Given the description of an element on the screen output the (x, y) to click on. 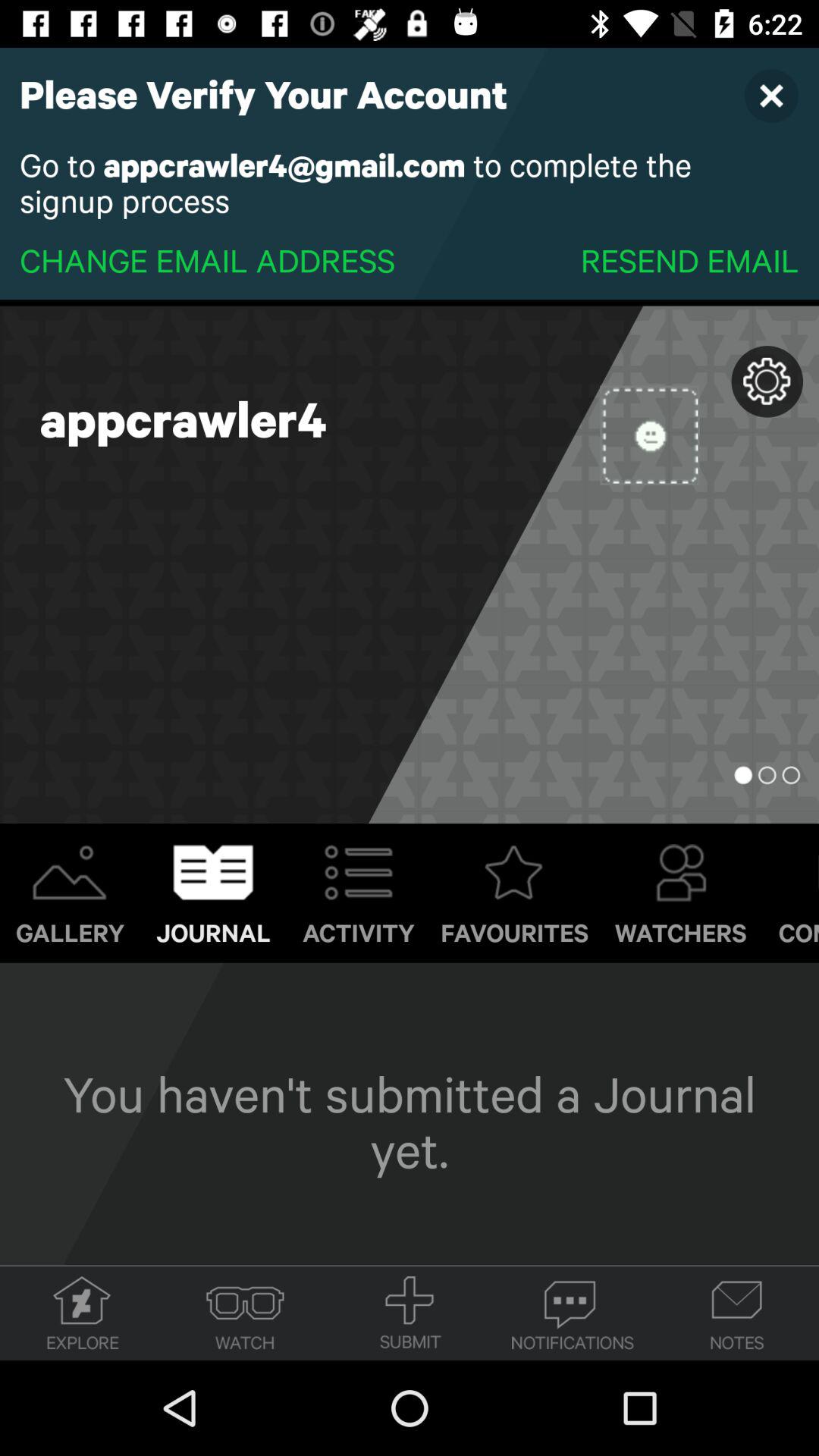
turn on resend email (689, 259)
